Given the description of an element on the screen output the (x, y) to click on. 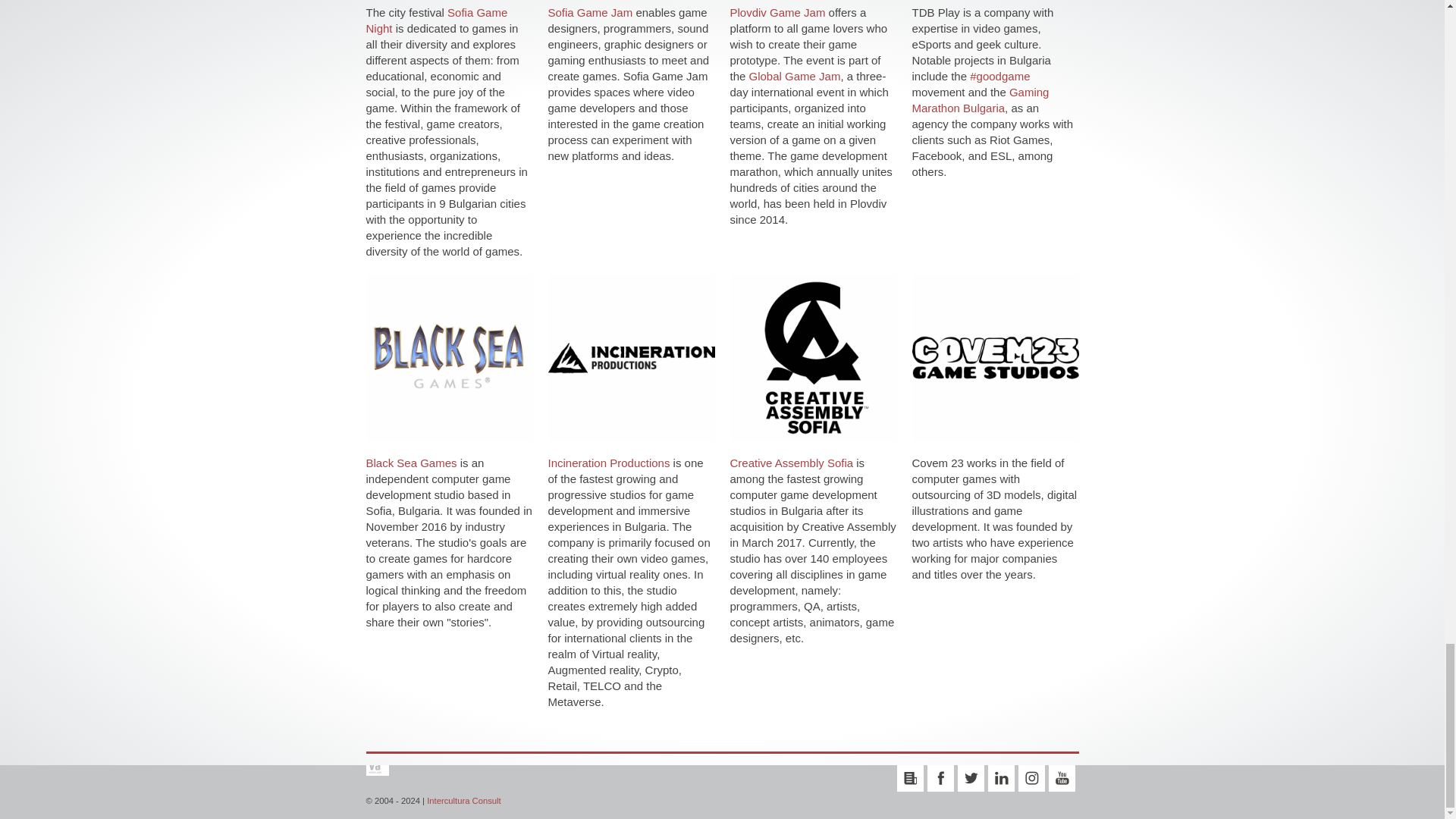
YouTube (1061, 777)
Twitter (970, 777)
Plovdiv Game Jam (777, 11)
Creative Assembly Sofia (791, 462)
Black Sea Games (411, 462)
Intercultura Consult (463, 800)
Sofia Game Night (435, 20)
Facebook (939, 777)
Register to Our Newsletter (909, 777)
Sofia Game Jam (589, 11)
Gaming Marathon Bulgaria (979, 99)
Instagram (1030, 777)
Incineration Productions (608, 462)
Global Game Jam (795, 75)
LinkedIn (1000, 777)
